Given the description of an element on the screen output the (x, y) to click on. 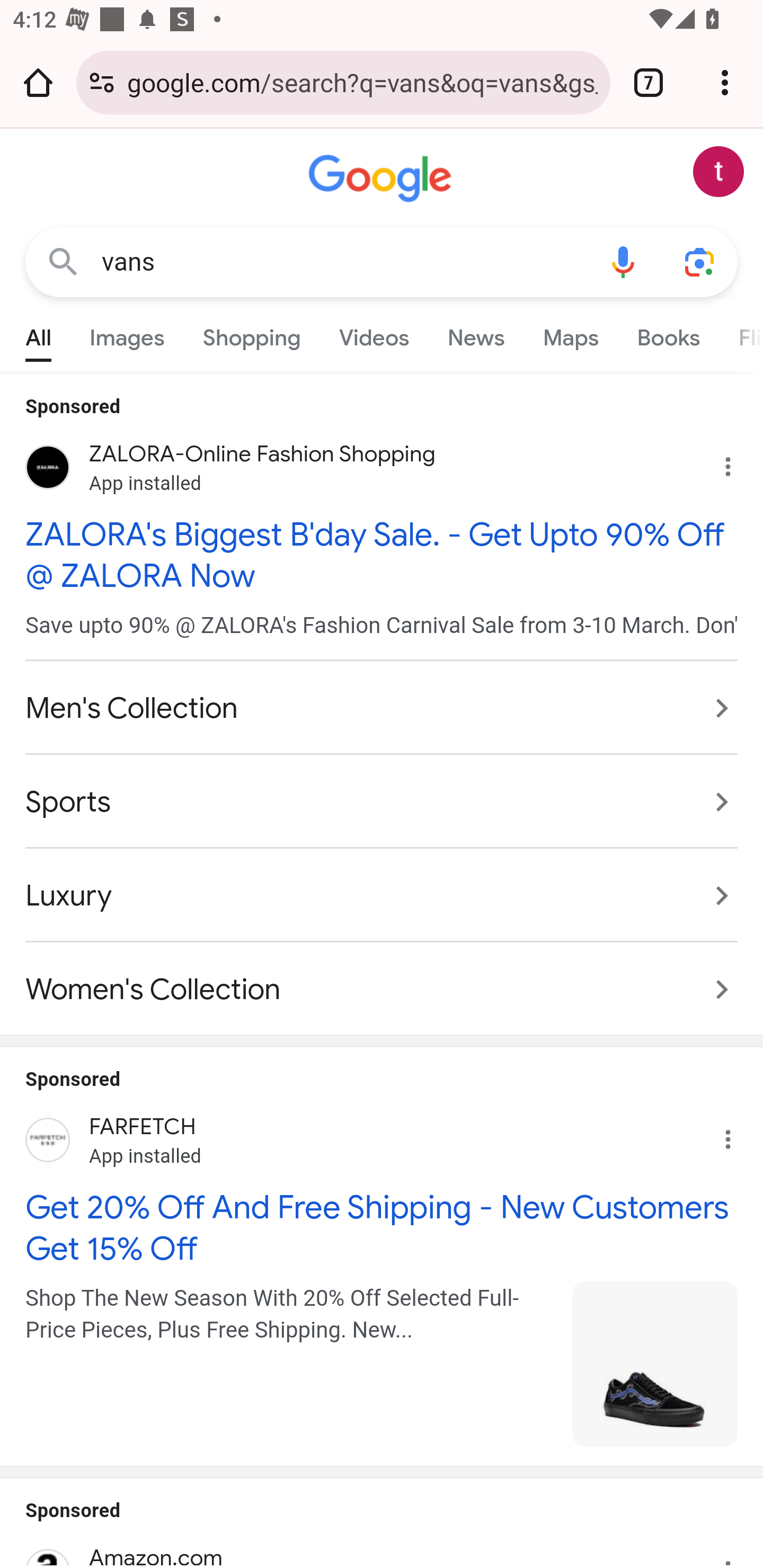
Open the home page (38, 82)
Connection is secure (101, 82)
Switch or close tabs (648, 82)
Customize and control Google Chrome (724, 82)
Google (381, 179)
Google Search (63, 262)
Search using your camera or photos (699, 262)
vans (343, 261)
Images (127, 333)
Shopping (252, 333)
Videos (373, 333)
News (475, 333)
Maps (570, 333)
Books (668, 333)
Why this ad? (738, 462)
Men's Collection (381, 707)
Sports (381, 801)
Luxury (381, 895)
Women's Collection (381, 979)
Why this ad? (738, 1134)
Image from farfetch.com (654, 1364)
